Given the description of an element on the screen output the (x, y) to click on. 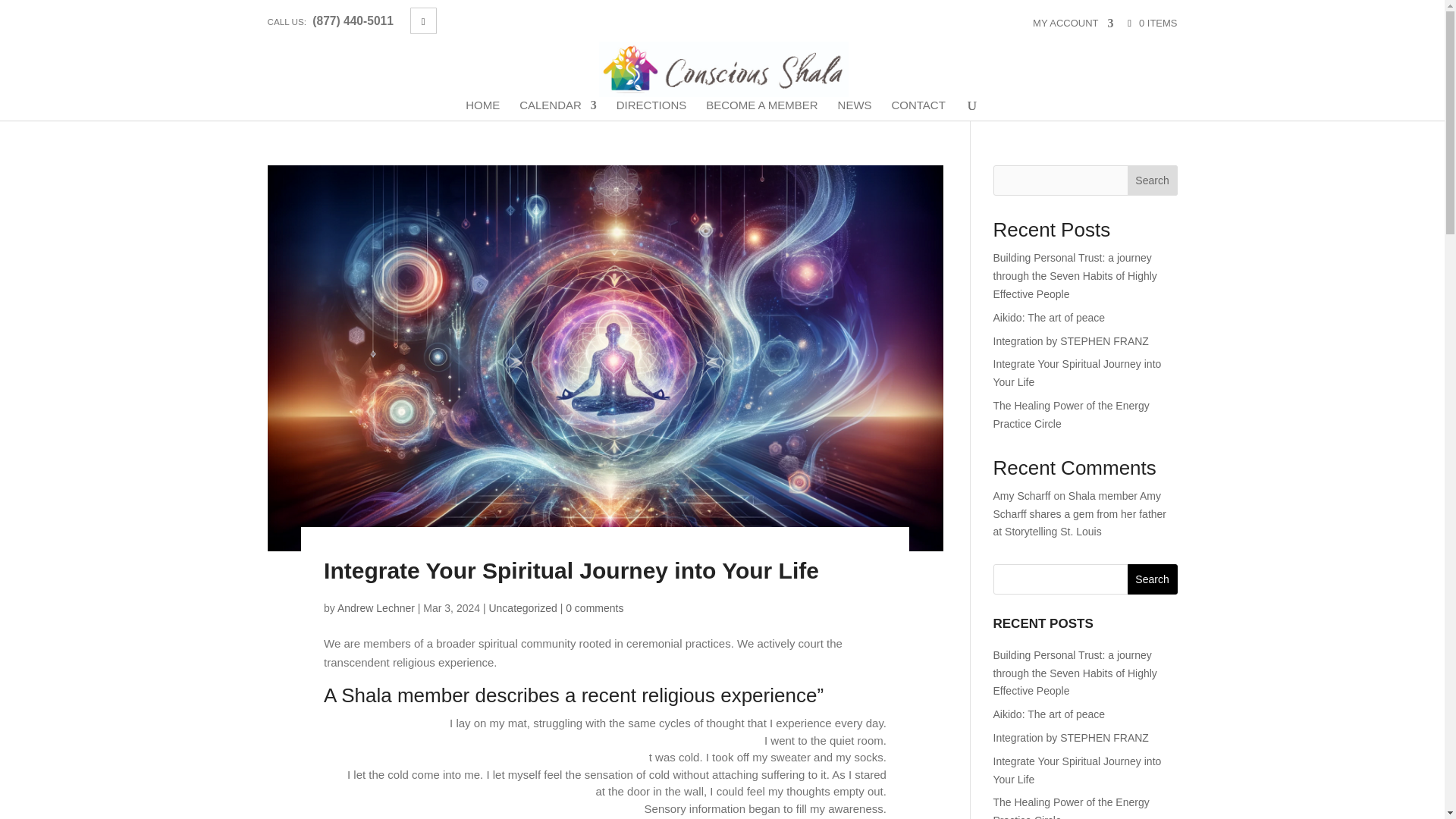
0 comments (594, 607)
Search (1151, 579)
Search (1151, 579)
CONTACT (917, 109)
Posts by Andrew Lechner (375, 607)
0 ITEMS (1151, 22)
Andrew Lechner (375, 607)
Integration by STEPHEN FRANZ (1070, 340)
DIRECTIONS (651, 109)
CALENDAR (557, 109)
BECOME A MEMBER (762, 109)
Aikido: The art of peace (1048, 714)
NEWS (855, 109)
